Given the description of an element on the screen output the (x, y) to click on. 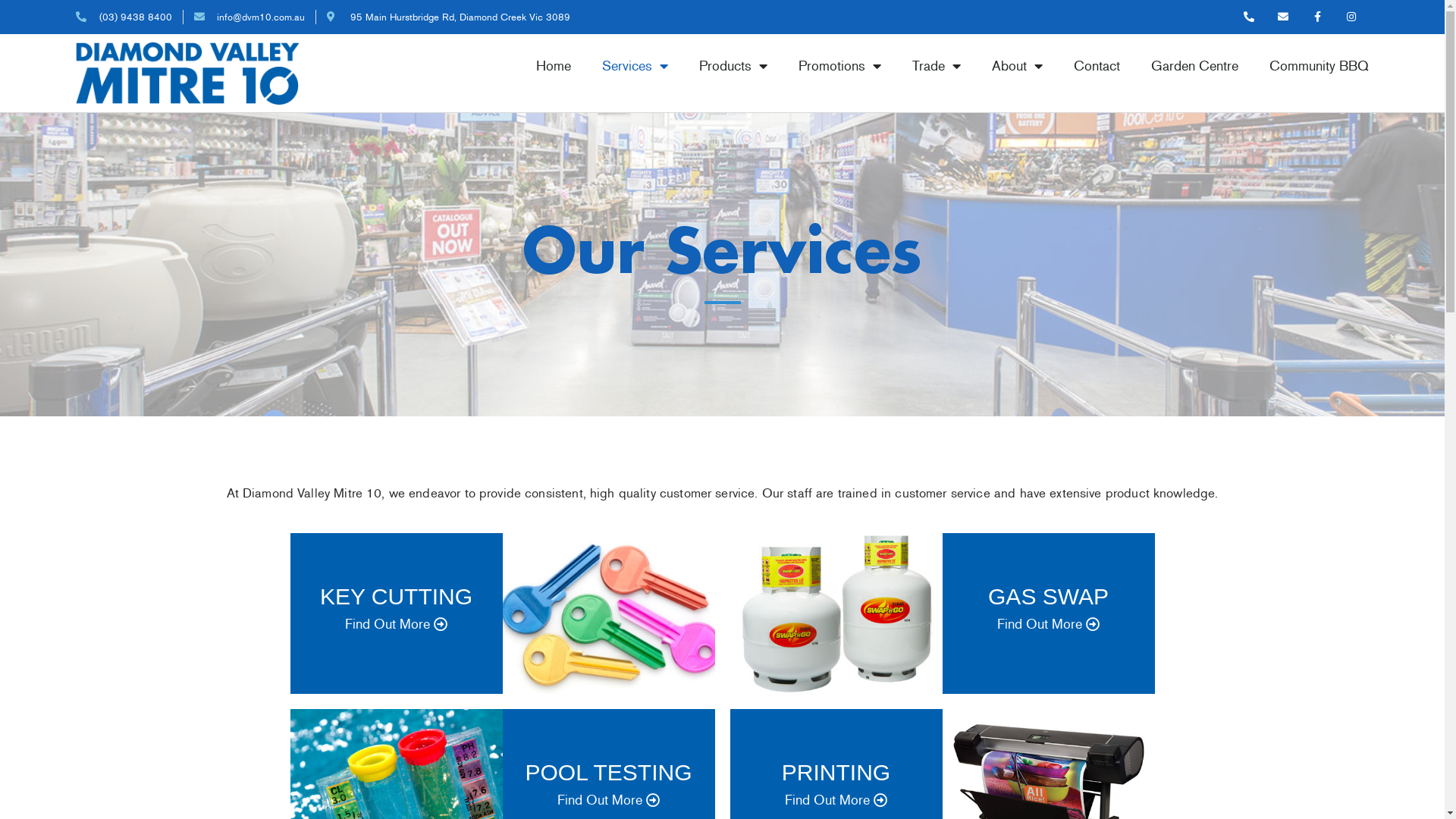
Find Out More Element type: text (1048, 624)
Promotions Element type: text (839, 65)
Products Element type: text (733, 65)
Community BBQ Element type: text (1318, 65)
Contact Element type: text (1096, 65)
Find Out More Element type: text (608, 800)
info@dvm10.com.au Element type: text (249, 17)
Home Element type: text (553, 65)
Garden Centre Element type: text (1194, 65)
Trade Element type: text (936, 65)
Services Element type: text (635, 65)
Find Out More Element type: text (835, 800)
About Element type: text (1016, 65)
Find Out More Element type: text (395, 624)
